Given the description of an element on the screen output the (x, y) to click on. 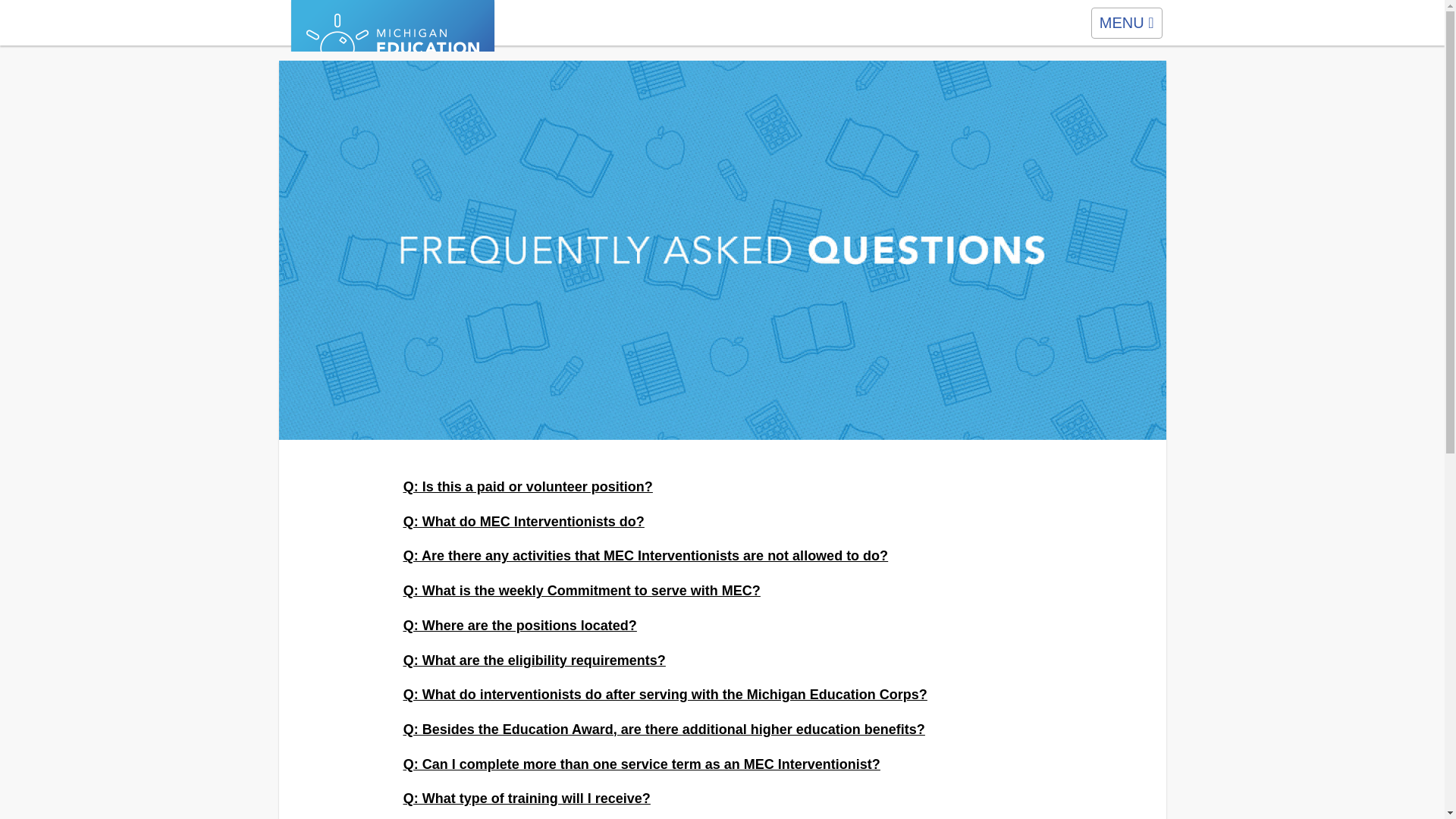
Q: What do MEC Interventionists do? (716, 522)
Q: Is this a paid or volunteer position? (716, 487)
Michigan Education Corps (1125, 22)
